Given the description of an element on the screen output the (x, y) to click on. 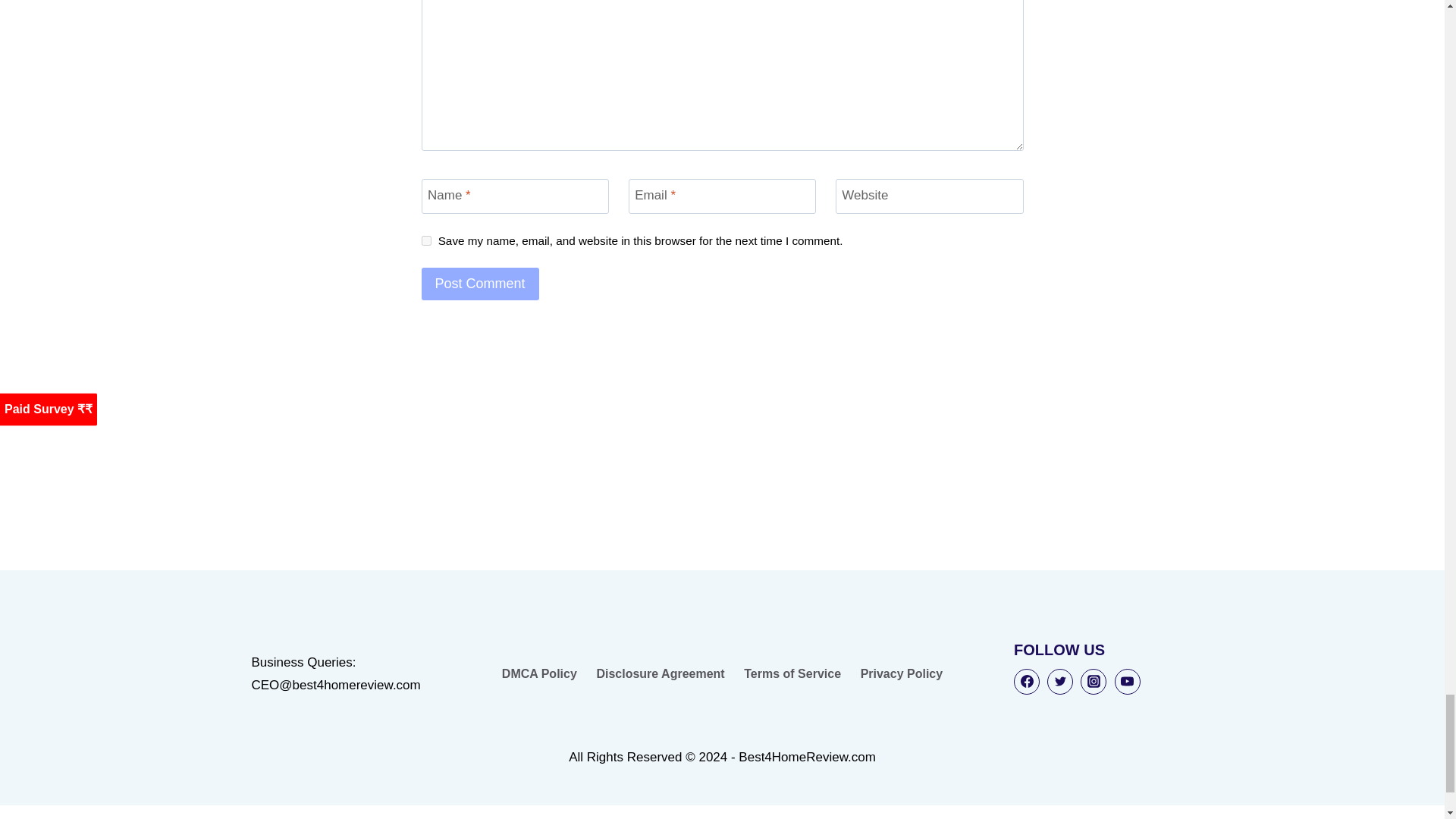
Post Comment (480, 283)
Post Comment (480, 283)
yes (426, 240)
Disclosure Agreement (660, 674)
Privacy Policy (901, 674)
DMCA Policy (539, 674)
Terms of Service (791, 674)
